Given the description of an element on the screen output the (x, y) to click on. 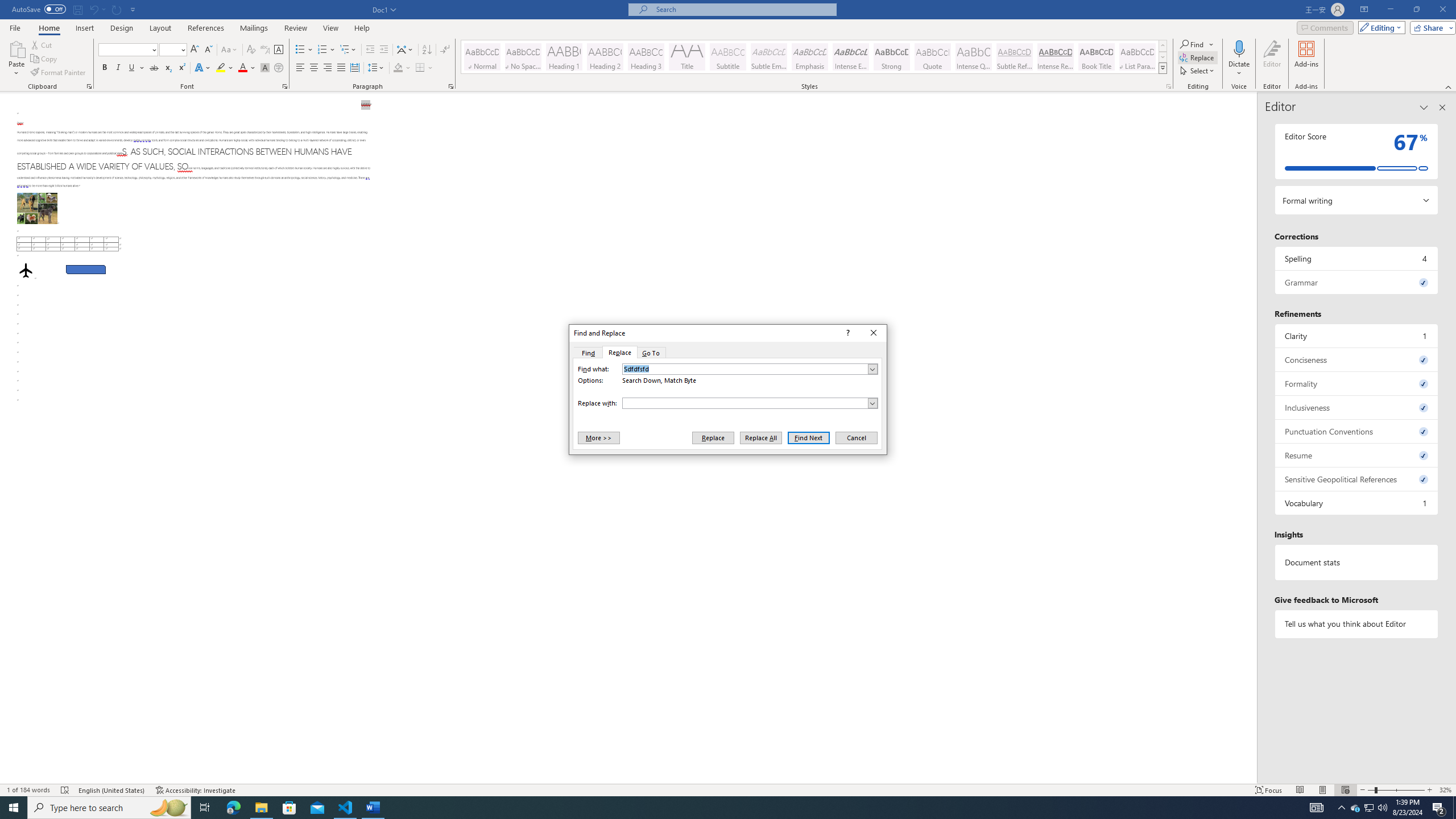
Subtle Emphasis (768, 56)
